Given the description of an element on the screen output the (x, y) to click on. 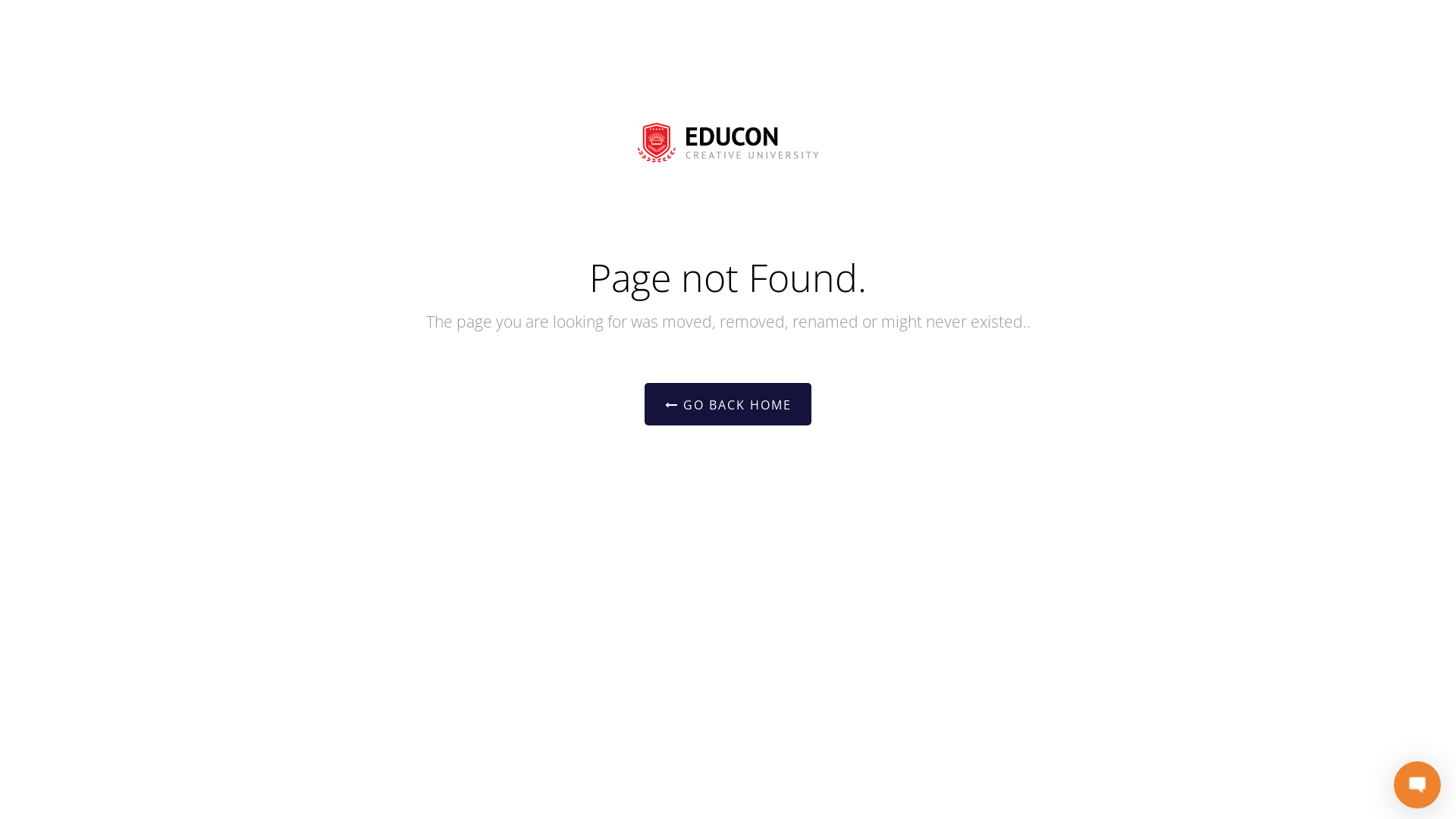
 GO BACK HOME Element type: text (727, 403)
